Given the description of an element on the screen output the (x, y) to click on. 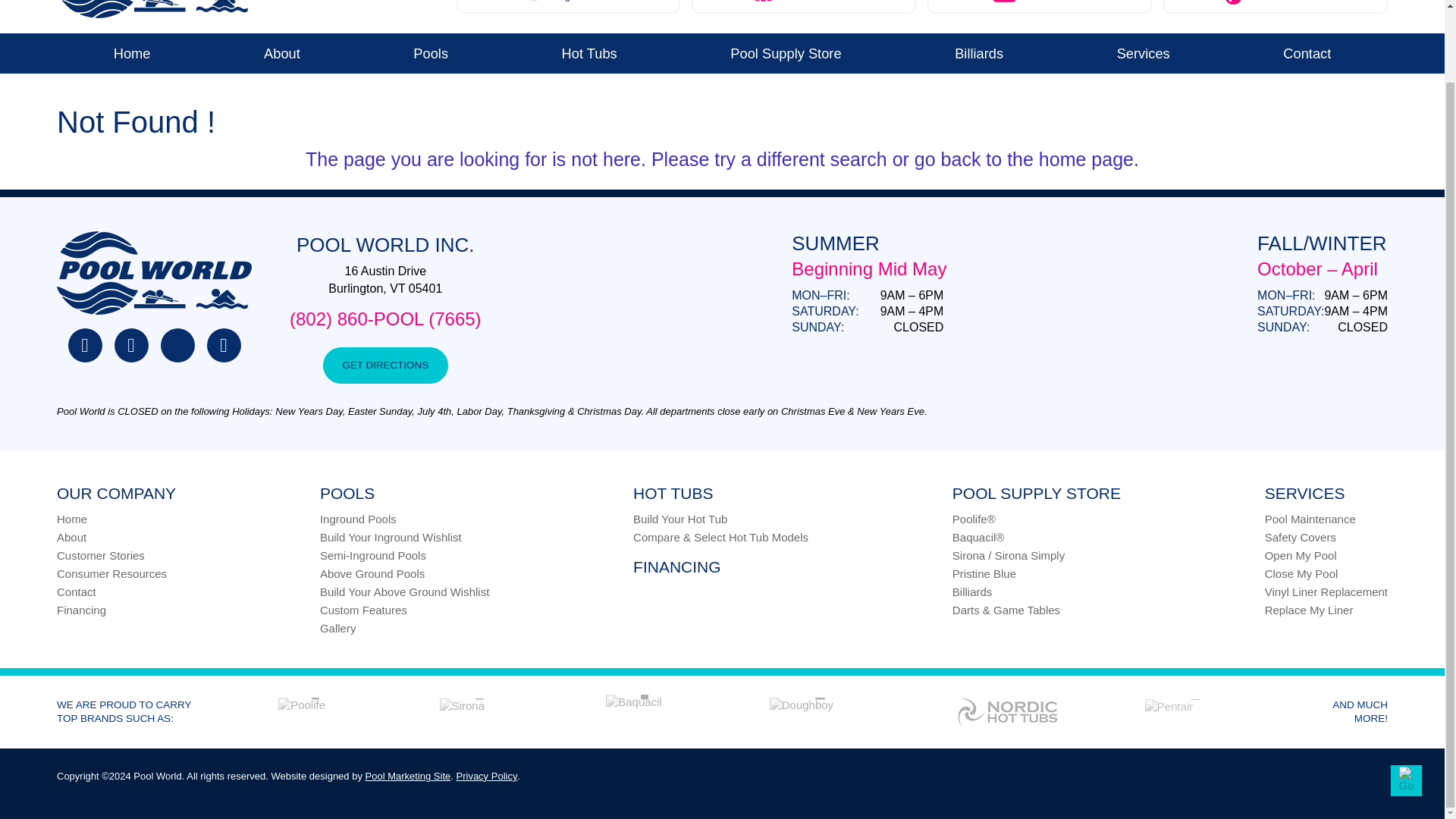
Pools (430, 53)
icon-monthly-care (803, 6)
Services (1233, 2)
About (1143, 53)
Hot Tubs (281, 53)
Pool Supply Store (589, 53)
Contact (786, 53)
Billiards (569, 6)
Home (1308, 53)
